Given the description of an element on the screen output the (x, y) to click on. 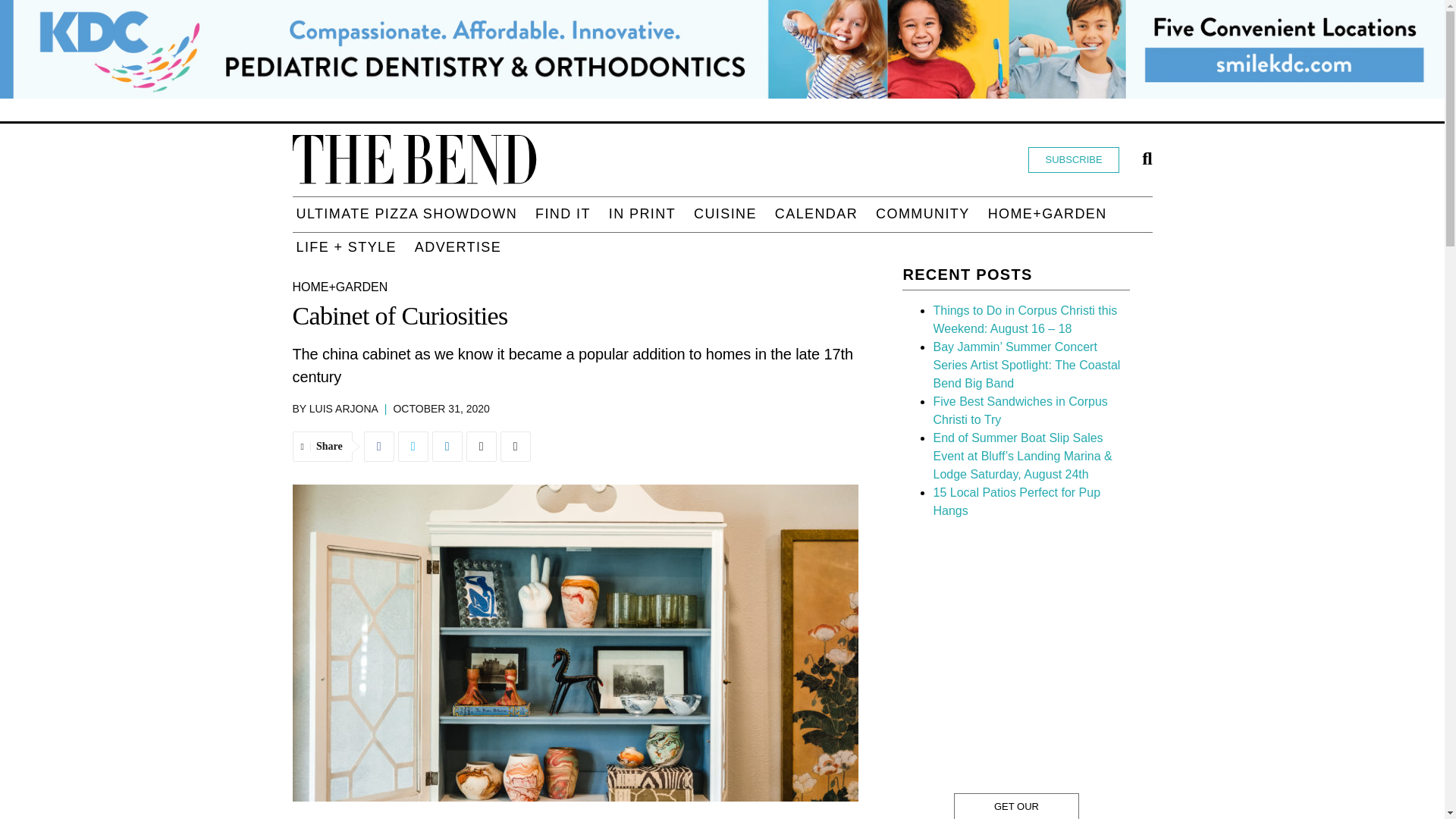
Find It (562, 213)
Ultimate Pizza Showdown (406, 213)
In Print (642, 213)
Cuisine (725, 213)
